Given the description of an element on the screen output the (x, y) to click on. 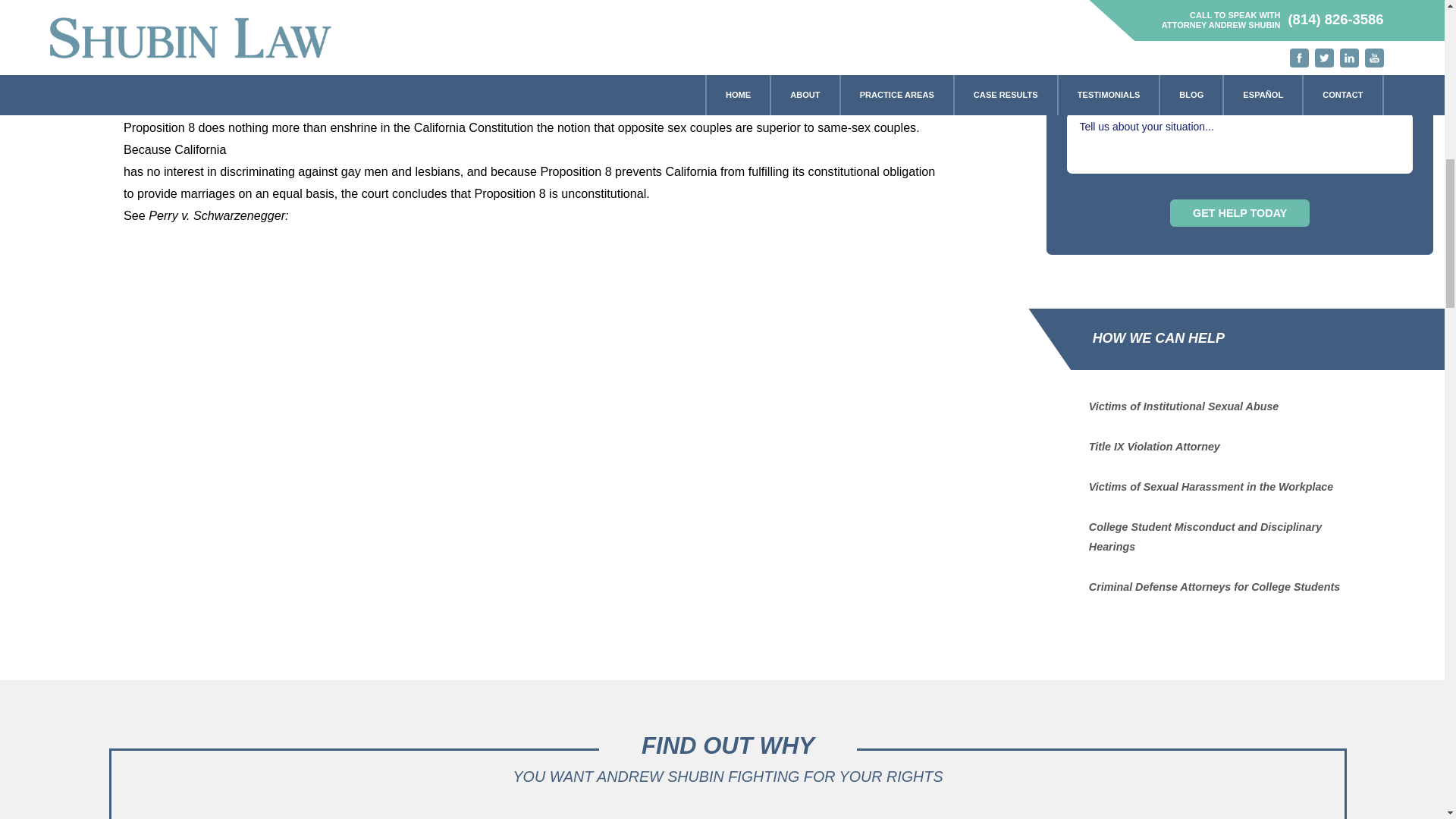
GET HELP TODAY (1239, 212)
Title IX Violation Attorney (1154, 446)
Victims of Sexual Harassment in the Workplace (1211, 486)
Victims of Institutional Sexual Abuse (1184, 406)
HOW WE CAN HELP (1125, 339)
College Student Misconduct and Disciplinary Hearings (1205, 536)
GET HELP TODAY (1239, 212)
